Given the description of an element on the screen output the (x, y) to click on. 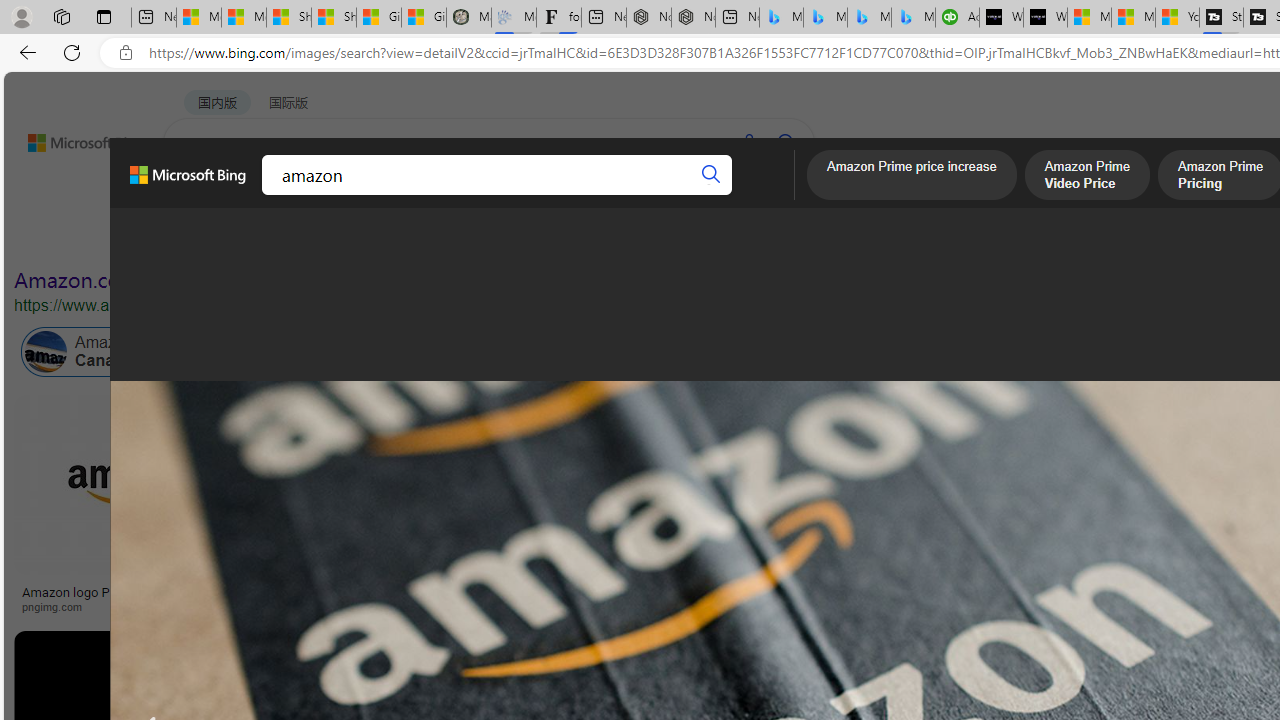
Microsoft Bing Travel - Stays in Bangkok, Bangkok, Thailand (825, 17)
Search using voice (748, 142)
Search (712, 174)
Amazon Kids (422, 351)
Amazon Canada Online (114, 351)
People (520, 237)
mytotalretail.com (319, 605)
Listen: What's next for Amazon? (639, 592)
Amazon Logo Png Hd Wallpaper | Images and Photos finder (982, 598)
Microsoft Start (1133, 17)
Amazon India (850, 351)
Kindle Paperwhite Case (1183, 524)
Manatee Mortality Statistics | FWC (468, 17)
